Given the description of an element on the screen output the (x, y) to click on. 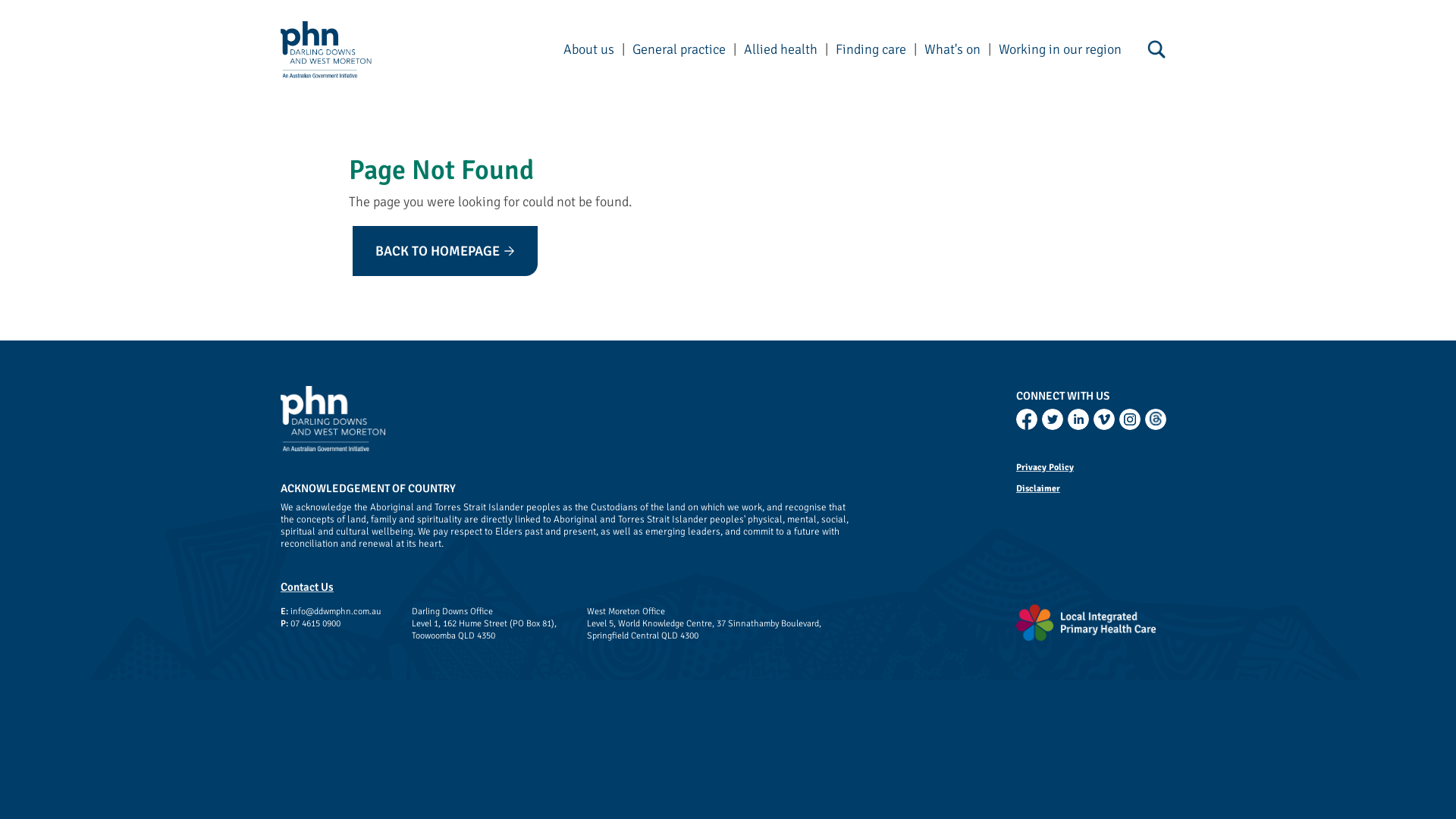
Disclaimer Element type: text (1095, 487)
Privacy Policy Element type: text (1095, 466)
Finding care Element type: text (870, 49)
P: 07 4615 0900 Element type: text (330, 624)
What's on Element type: text (952, 49)
Contact Us Element type: text (306, 586)
Working in our region Element type: text (1060, 49)
E: info@ddwmphn.com.au Element type: text (330, 611)
About us Element type: text (588, 49)
BACK TO HOMEPAGE Element type: text (444, 250)
Allied health Element type: text (780, 49)
General practice Element type: text (678, 49)
